Given the description of an element on the screen output the (x, y) to click on. 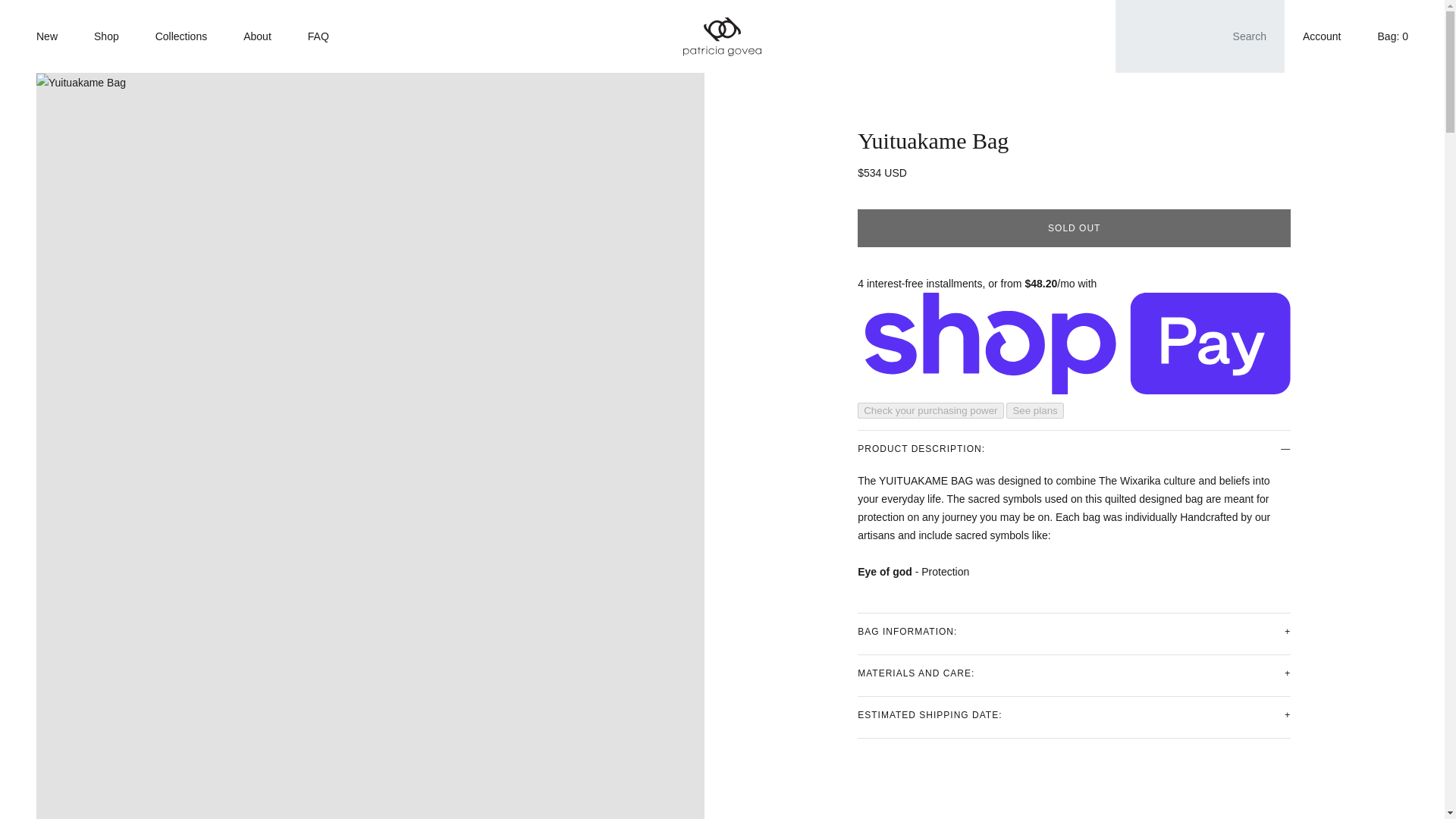
Collections (180, 36)
About (257, 36)
Search (1199, 36)
Shop (105, 36)
New (46, 36)
